Given the description of an element on the screen output the (x, y) to click on. 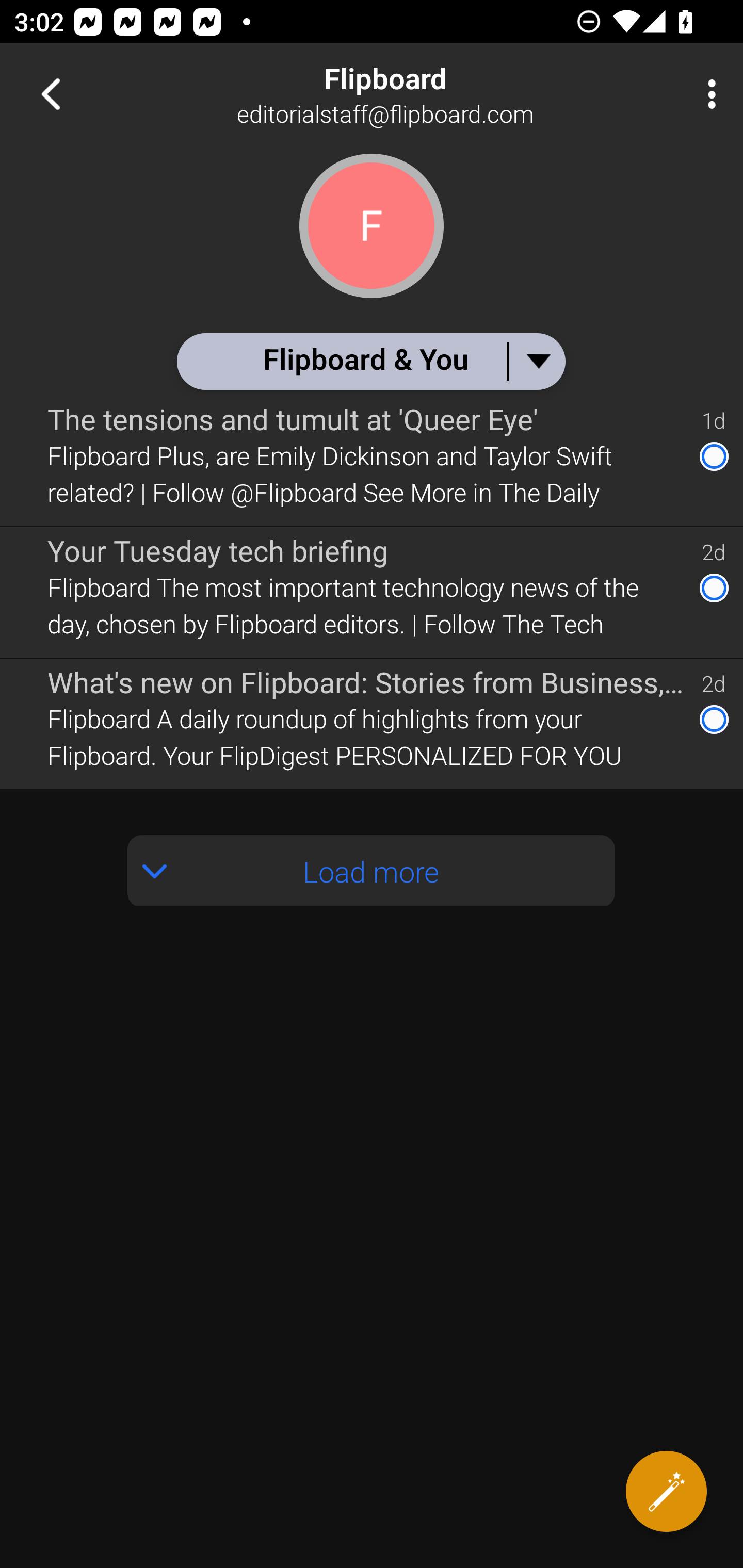
Navigate up (50, 93)
Flipboard editorialstaff@flipboard.com (436, 93)
More Options (706, 93)
Flipboard & You (370, 361)
Load more (371, 870)
